Given the description of an element on the screen output the (x, y) to click on. 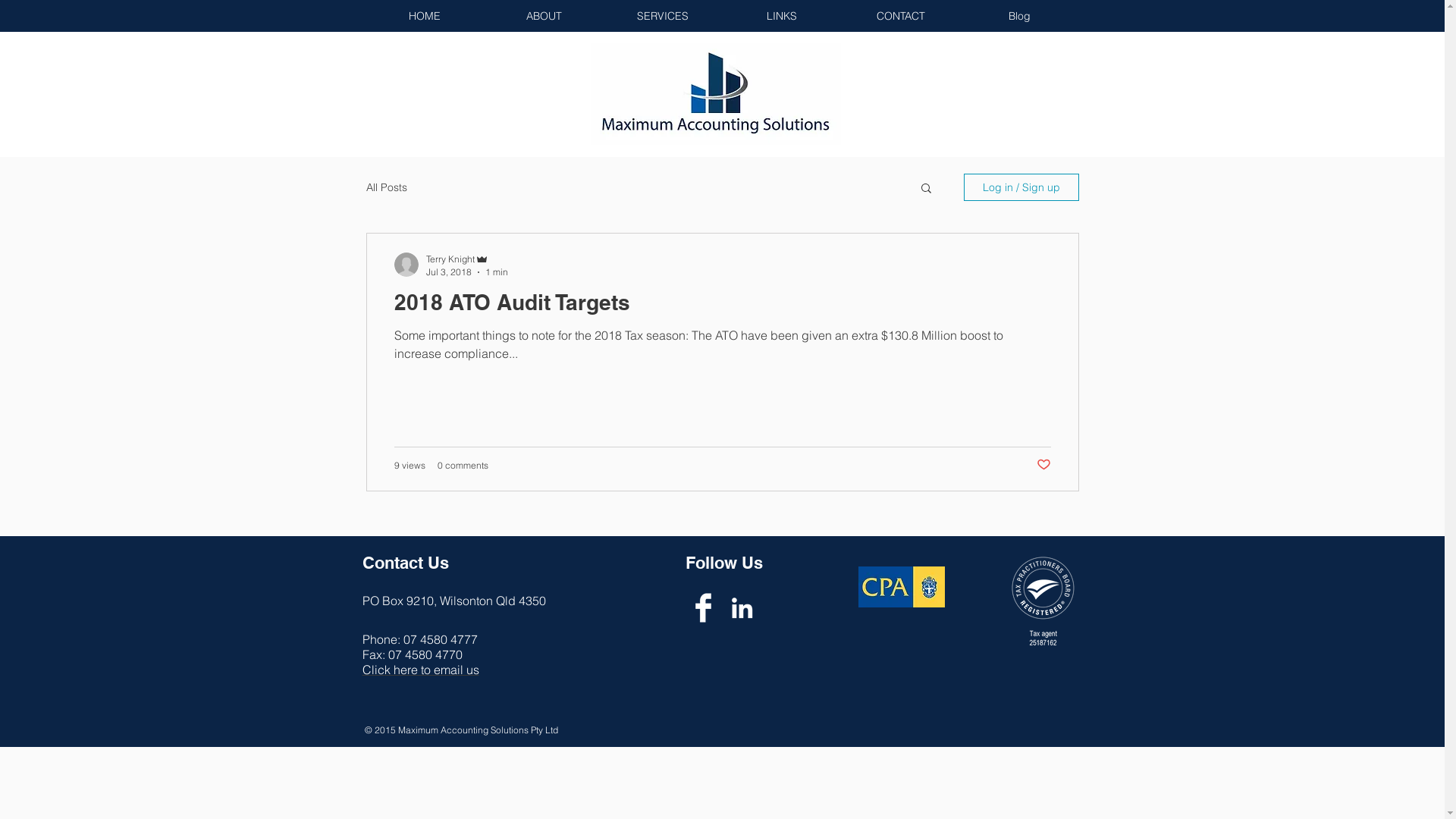
ABOUT Element type: text (542, 15)
Log in / Sign up Element type: text (1020, 186)
HOME Element type: text (424, 15)
2018 ATO Audit Targets Element type: text (722, 306)
SERVICES Element type: text (662, 15)
Click here to email us Element type: text (420, 669)
LINKS Element type: text (780, 15)
0 comments Element type: text (461, 464)
CPA Logo.jpg Element type: hover (901, 586)
Post not marked as liked Element type: text (1042, 465)
CONTACT Element type: text (900, 15)
Blog Element type: text (1019, 15)
All Posts Element type: text (385, 187)
